Given the description of an element on the screen output the (x, y) to click on. 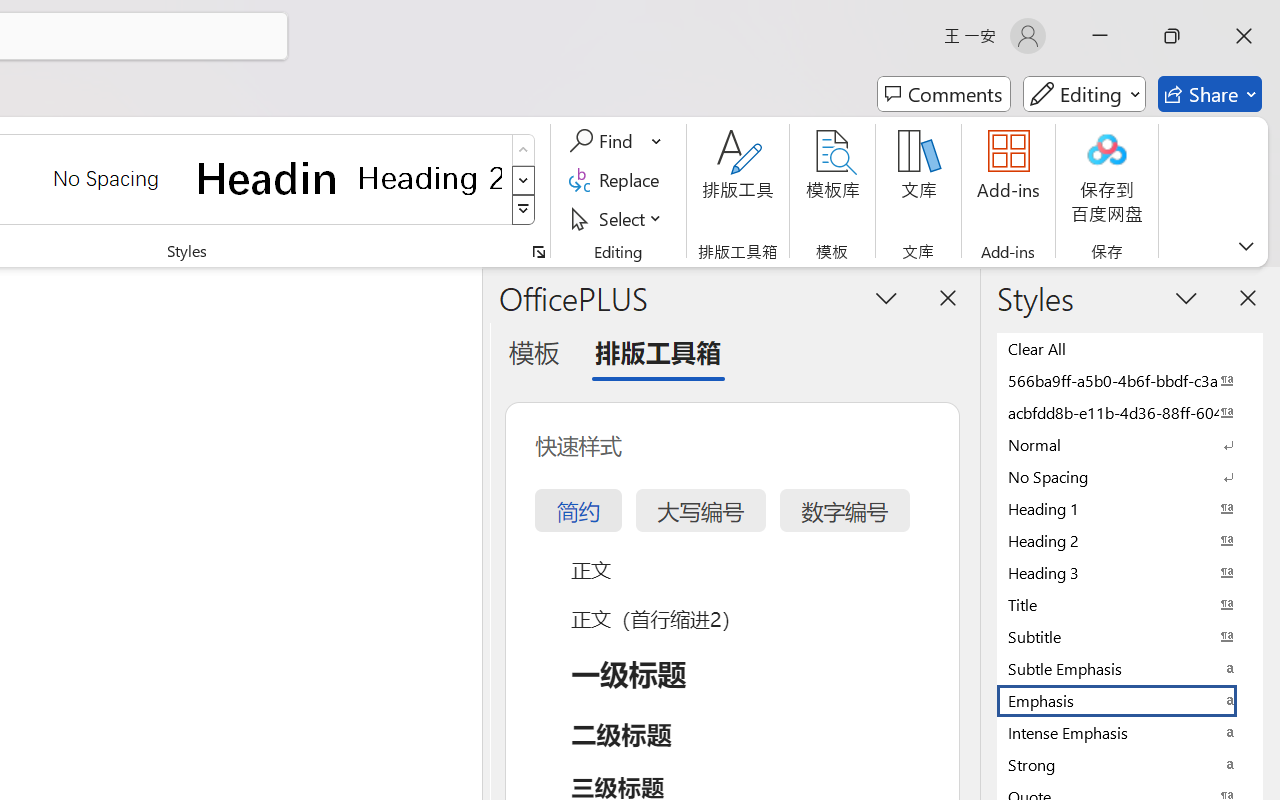
Heading 3 (1130, 572)
Row up (523, 150)
Emphasis (1130, 700)
Ribbon Display Options (1246, 245)
Class: NetUIImage (523, 210)
Task Pane Options (886, 297)
Row Down (523, 180)
Styles (523, 209)
Heading 2 (429, 178)
Replace... (617, 179)
Title (1130, 604)
Clear All (1130, 348)
